Given the description of an element on the screen output the (x, y) to click on. 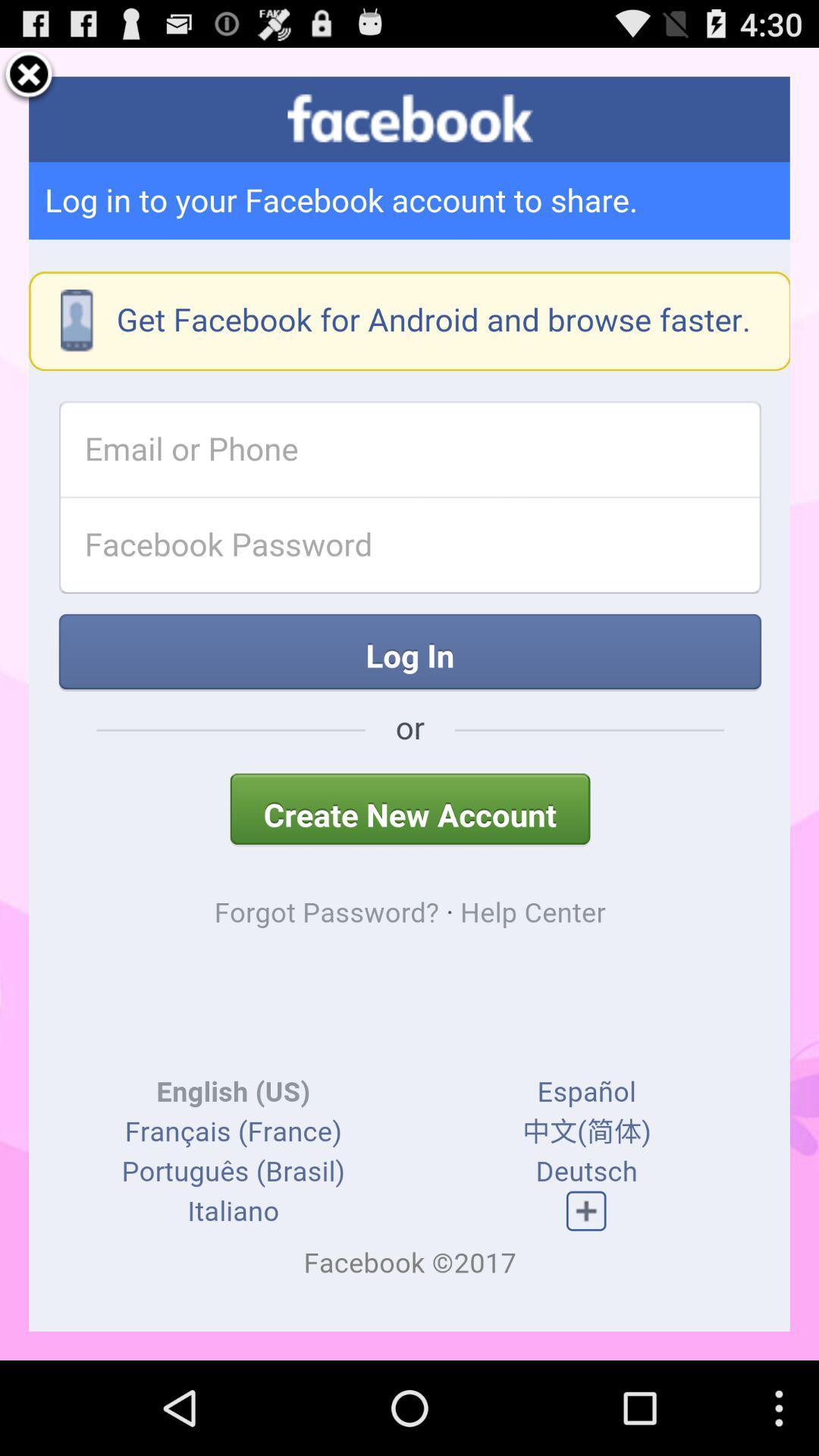
cancel (29, 76)
